Given the description of an element on the screen output the (x, y) to click on. 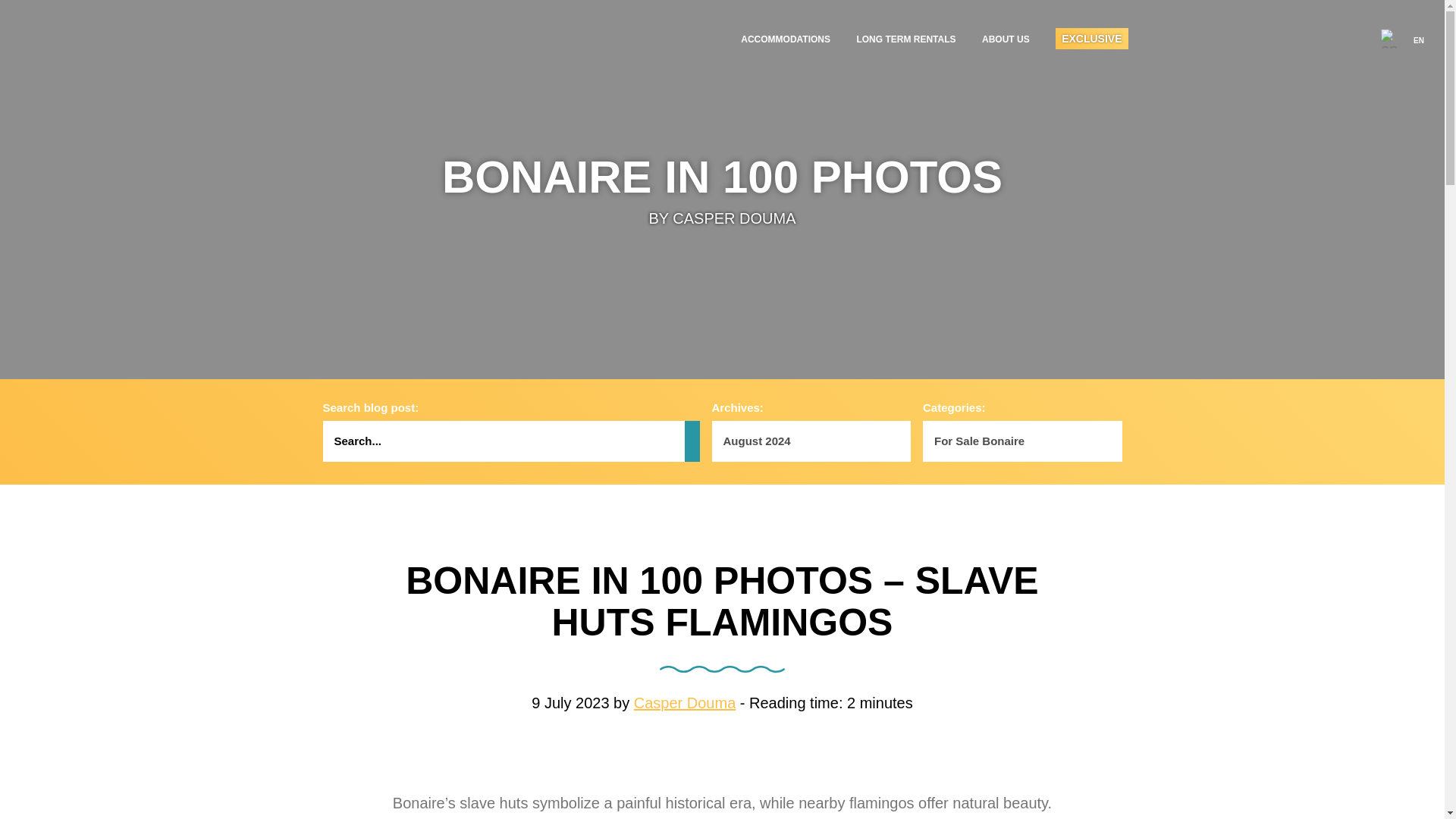
EN (1401, 36)
EXCLUSIVE (1090, 38)
LONG TERM RENTALS (905, 39)
Casper Douma (684, 702)
ACCOMMODATIONS (785, 39)
Sunwise Bonaire (416, 38)
ABOUT US (1005, 39)
